Given the description of an element on the screen output the (x, y) to click on. 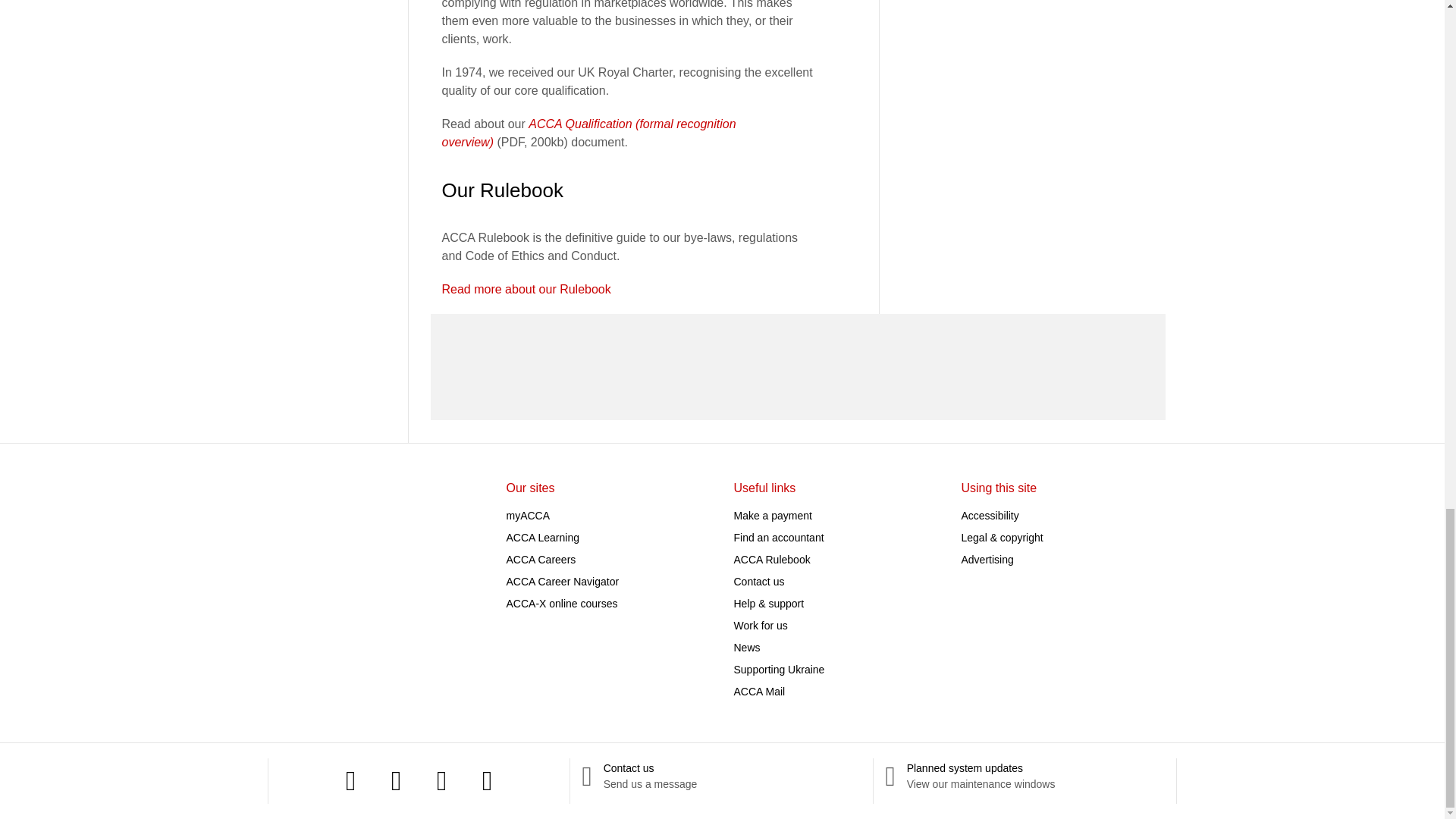
ACCA Rulebook (771, 559)
ACCA Career Navigator (563, 581)
Advertising (986, 559)
ACCA Careers (541, 559)
Accessibility (989, 515)
ACCA Mail (759, 691)
Work for us (760, 625)
Find an accountant (778, 537)
ACCA-X online courses (561, 603)
News (746, 647)
